Given the description of an element on the screen output the (x, y) to click on. 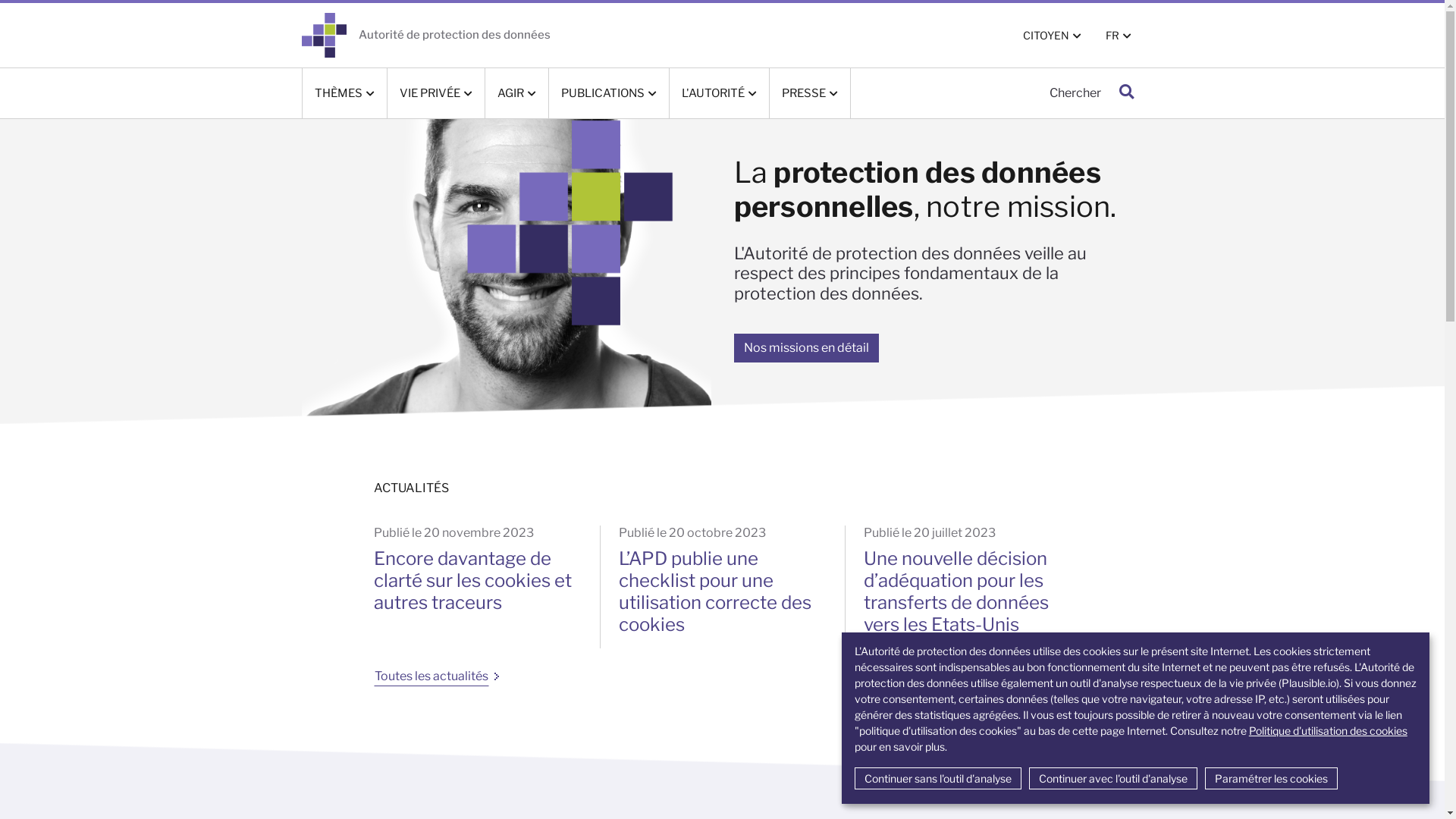
Politique d'utilisation des cookies Element type: text (1327, 730)
Continuer sans l'outil d'analyse Element type: text (937, 778)
Continuer avec l'outil d'analyse Element type: text (1113, 778)
PRESSE Element type: text (808, 93)
AGIR Element type: text (516, 93)
FR Element type: text (1118, 35)
CITOYEN Element type: text (1051, 35)
PUBLICATIONS Element type: text (608, 93)
Rechercher Element type: text (1125, 92)
